Given the description of an element on the screen output the (x, y) to click on. 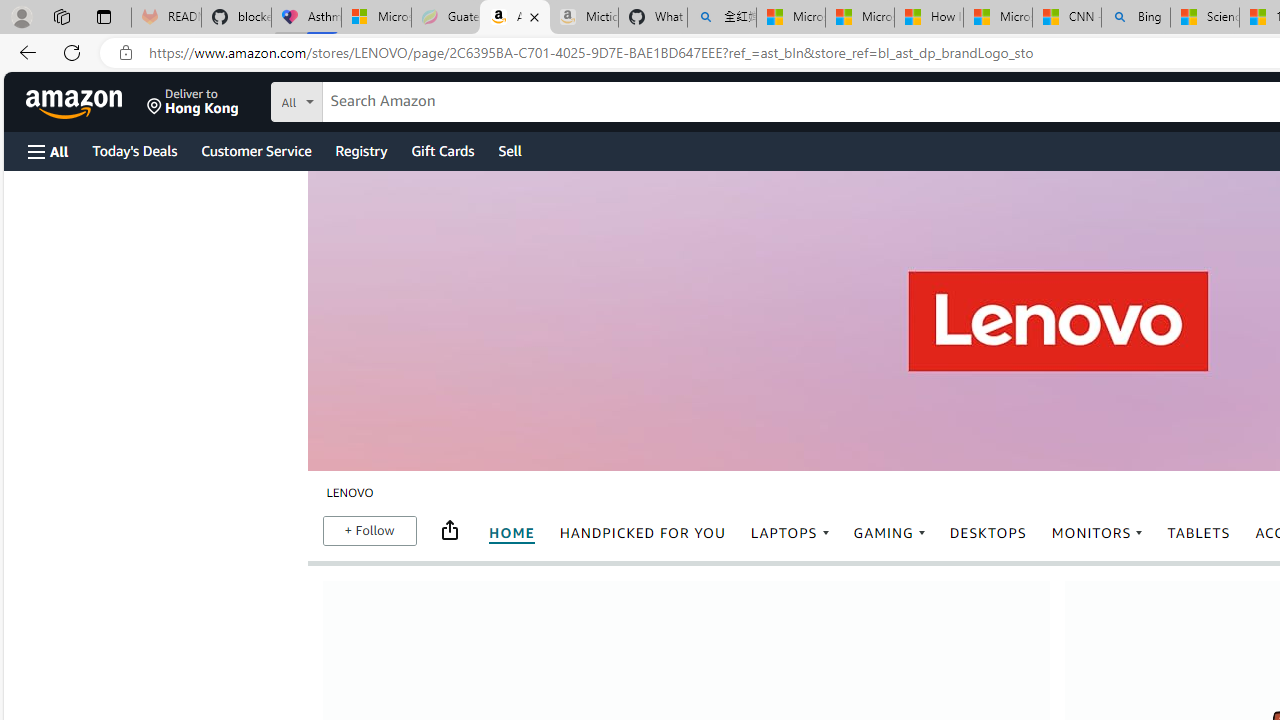
Customer Service (256, 150)
Follow LENOVO (369, 530)
TABLETS (1198, 533)
MONITORS (1096, 534)
Amazon (76, 101)
Search in (371, 99)
HANDPICKED FOR YOU (642, 534)
DESKTOPS (987, 533)
LAPTOPS (790, 533)
HOME (509, 534)
HOME (511, 533)
